Given the description of an element on the screen output the (x, y) to click on. 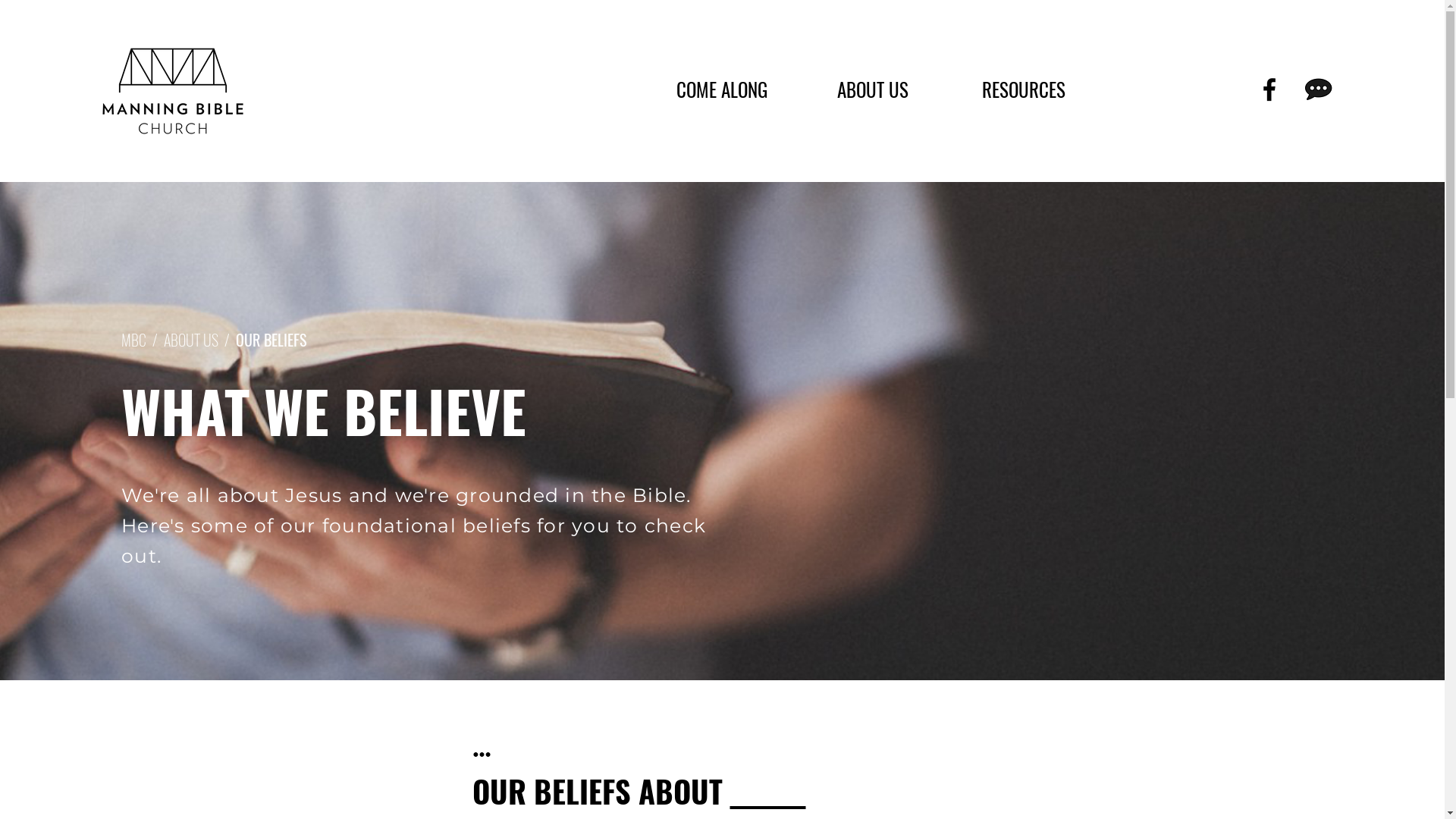
MBC-Logo-Black Wix.png Element type: hover (172, 90)
